Given the description of an element on the screen output the (x, y) to click on. 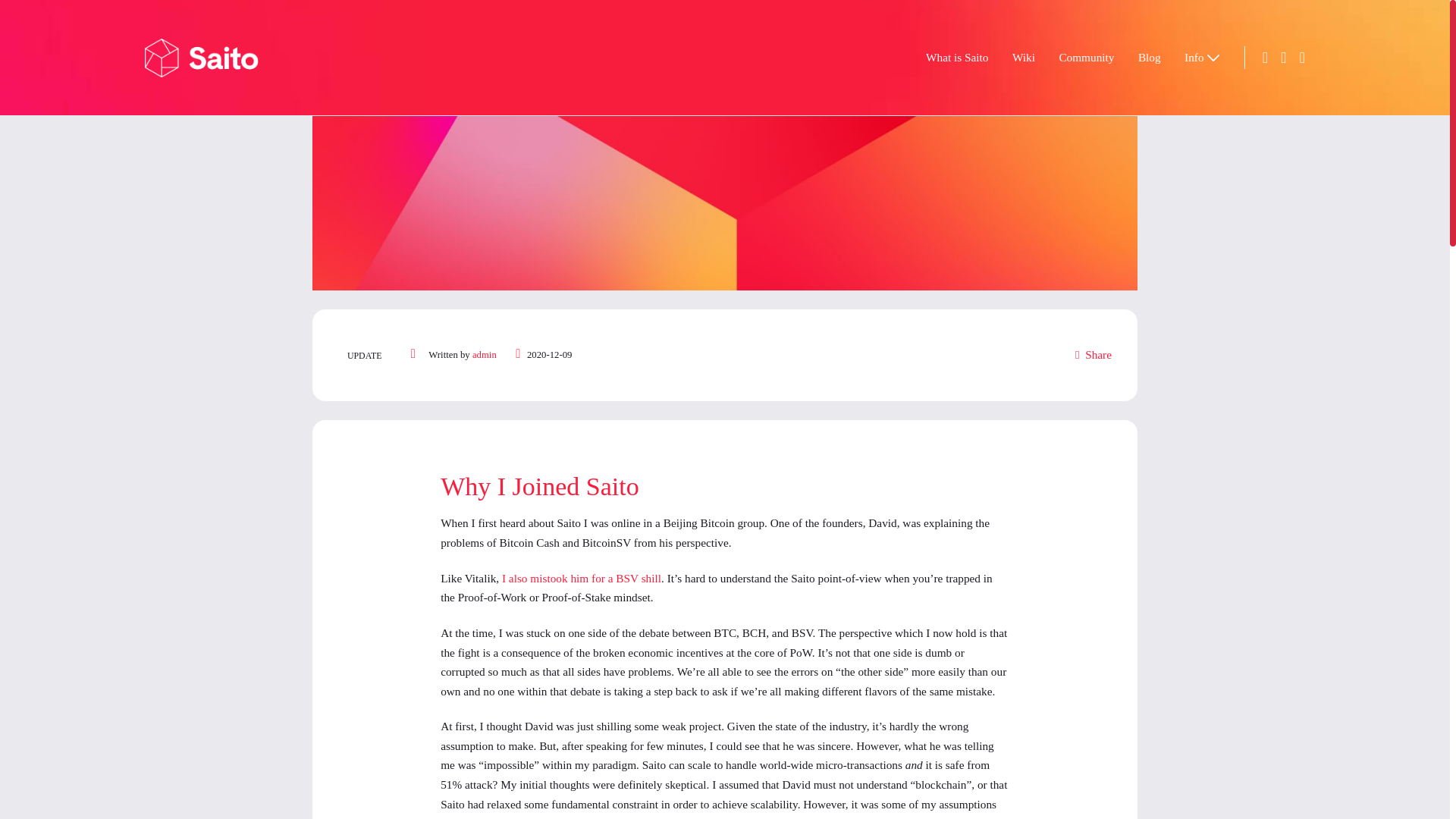
admin (570, 417)
UPDATE (429, 417)
Posts by admin (570, 417)
I also mistook him for a BSV shill (684, 679)
